Given the description of an element on the screen output the (x, y) to click on. 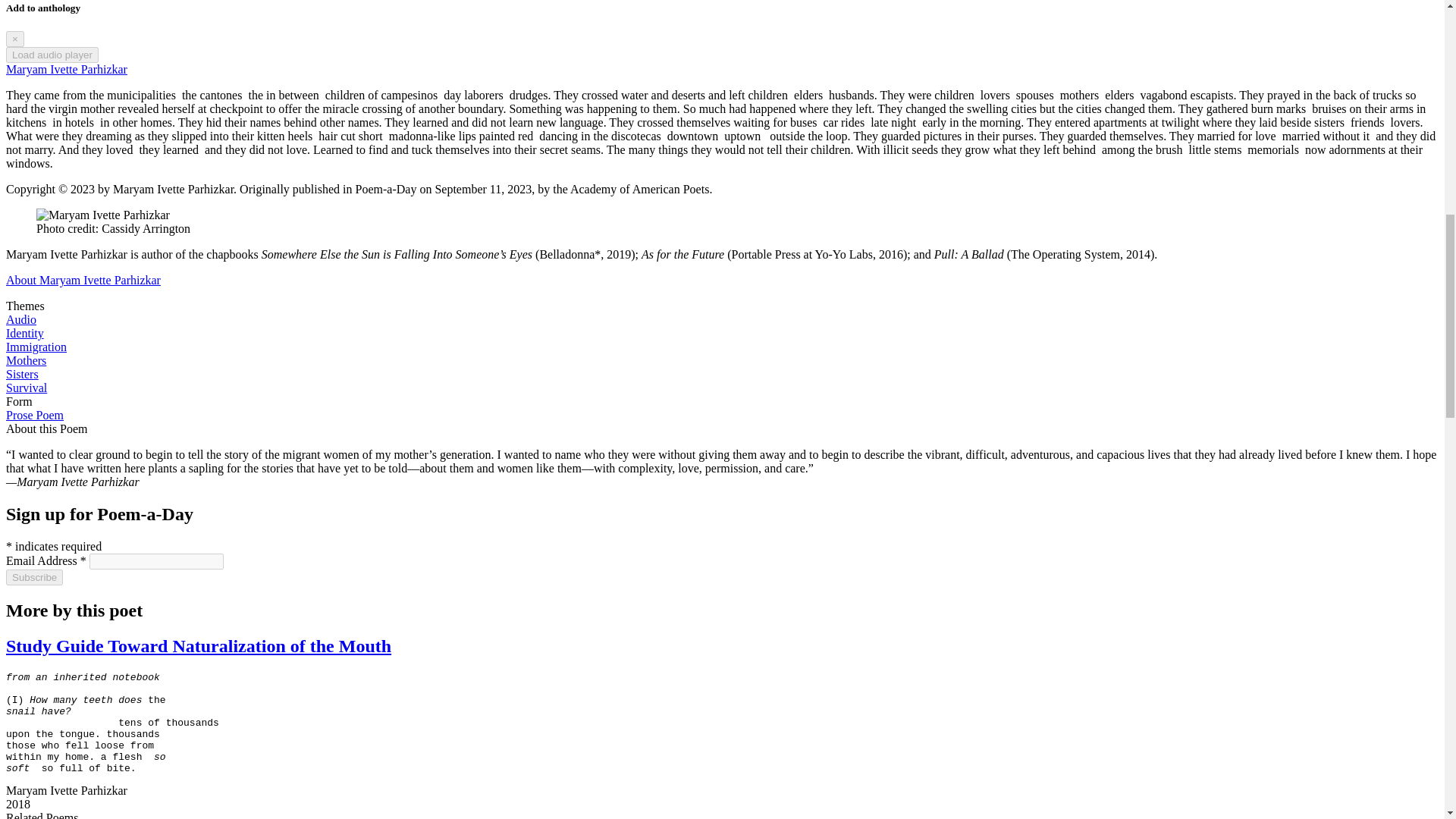
Load audio player (52, 54)
Maryam Ivette Parhizkar (66, 69)
About Maryam Ivette Parhizkar (82, 279)
Photo credit: Cassidy Arrington (103, 214)
Subscribe (33, 577)
